Given the description of an element on the screen output the (x, y) to click on. 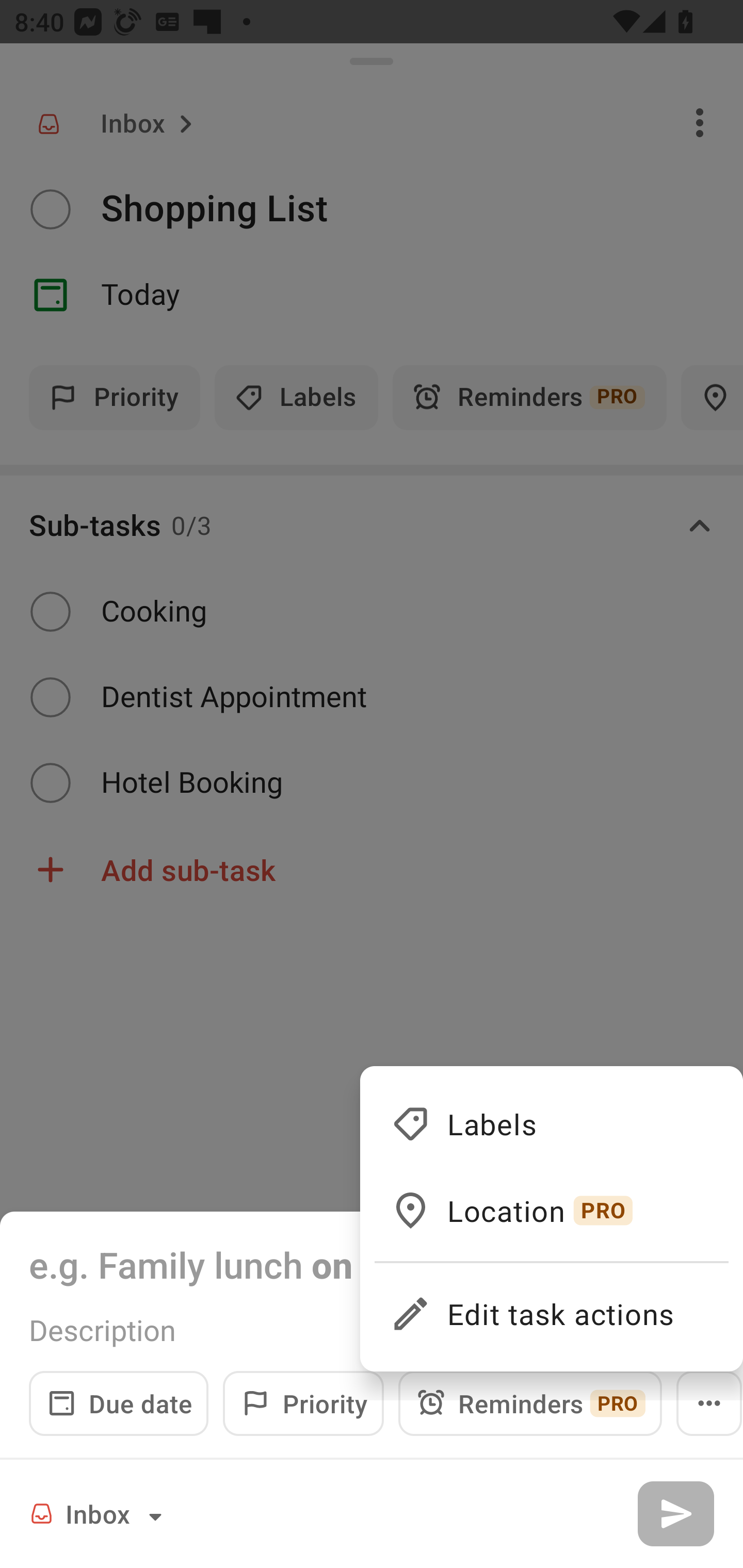
Labels (551, 1123)
Location PRO (551, 1210)
Edit task actions (551, 1305)
